Given the description of an element on the screen output the (x, y) to click on. 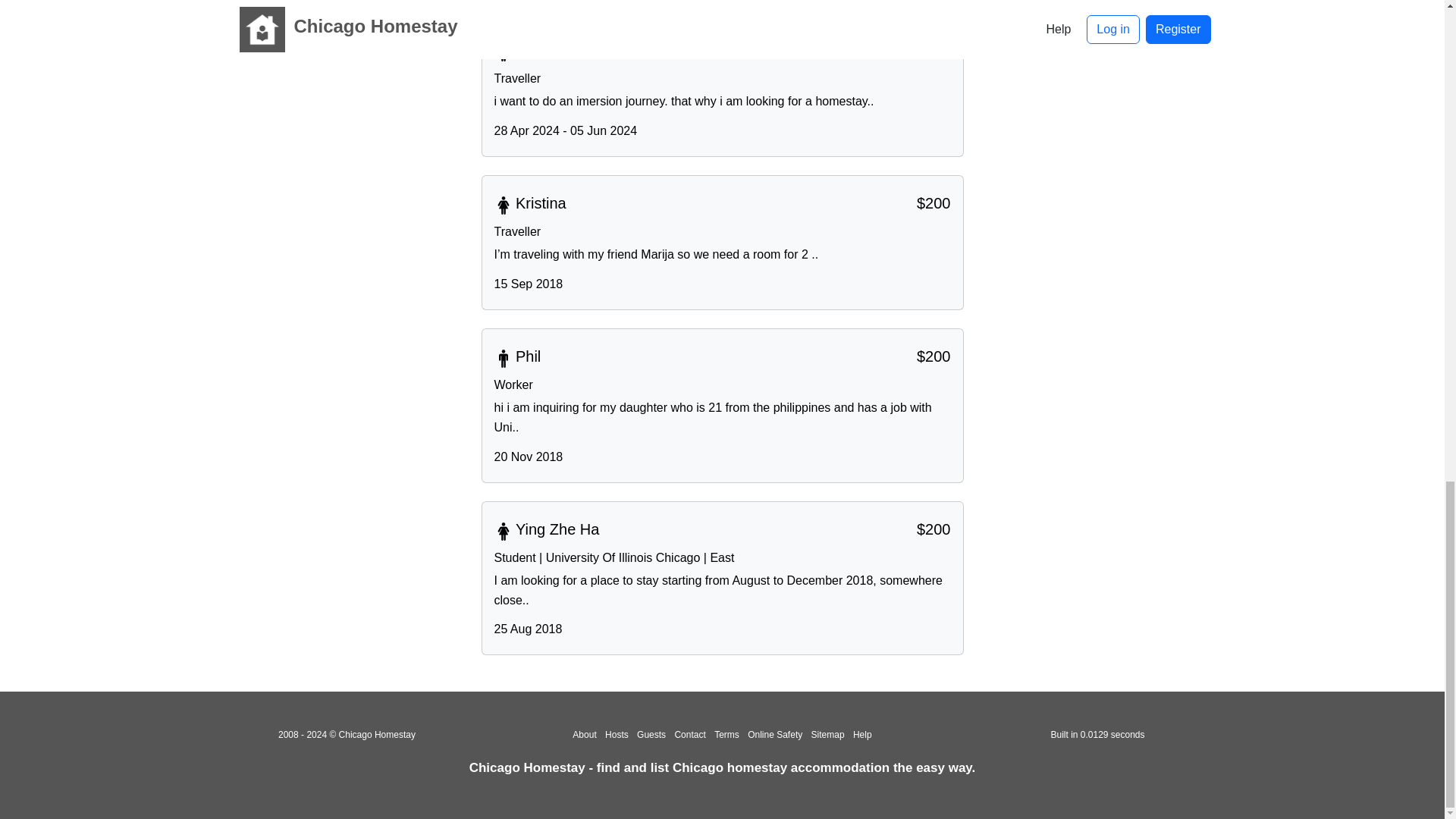
Help (862, 734)
Contact (689, 734)
Sitemap (827, 734)
About (583, 734)
Hosts (616, 734)
Guests (651, 734)
Terms (726, 734)
Online Safety (775, 734)
